Given the description of an element on the screen output the (x, y) to click on. 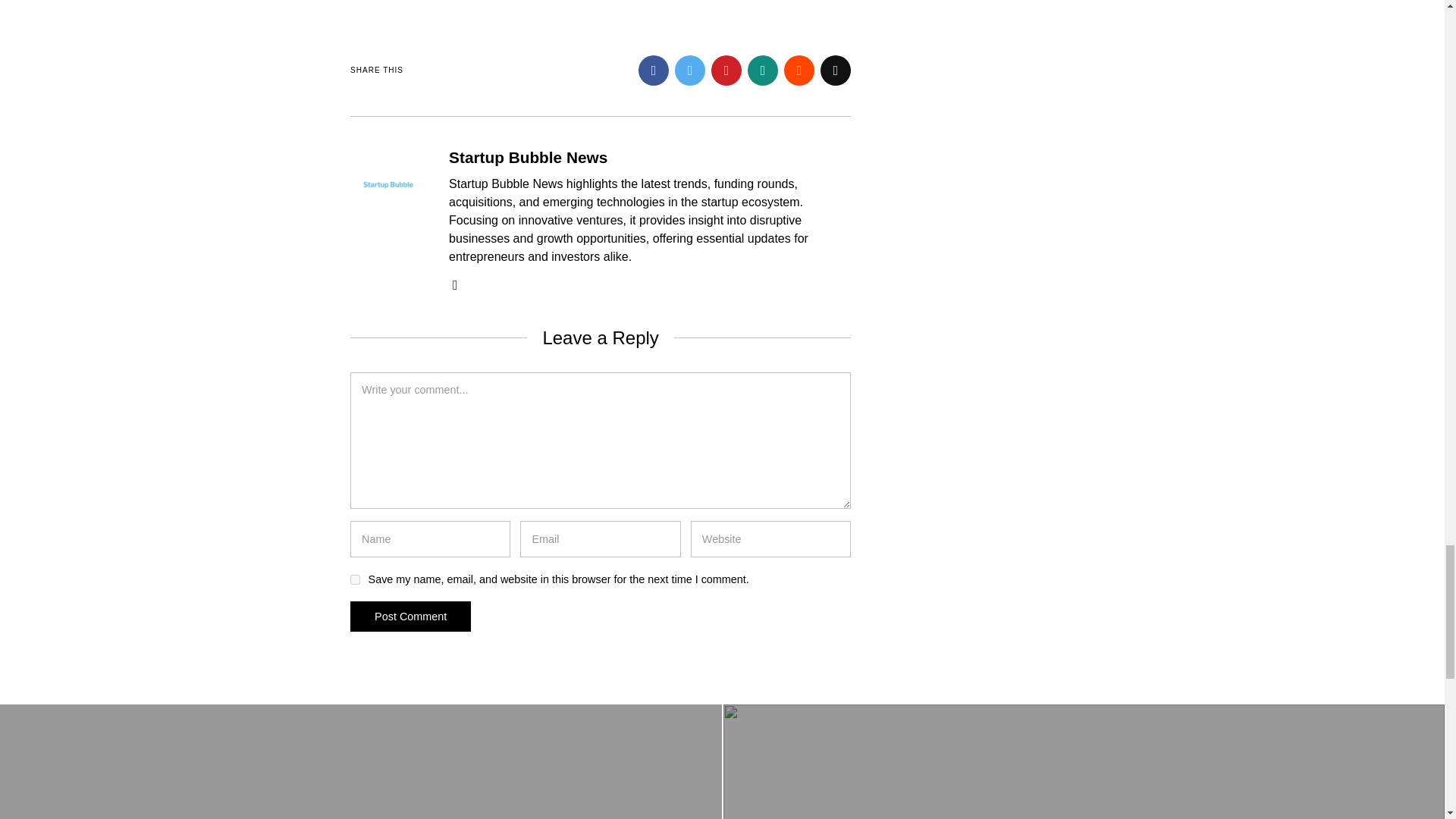
Post Comment (410, 615)
Facebook (653, 70)
yes (354, 579)
Advertisement (600, 12)
